Given the description of an element on the screen output the (x, y) to click on. 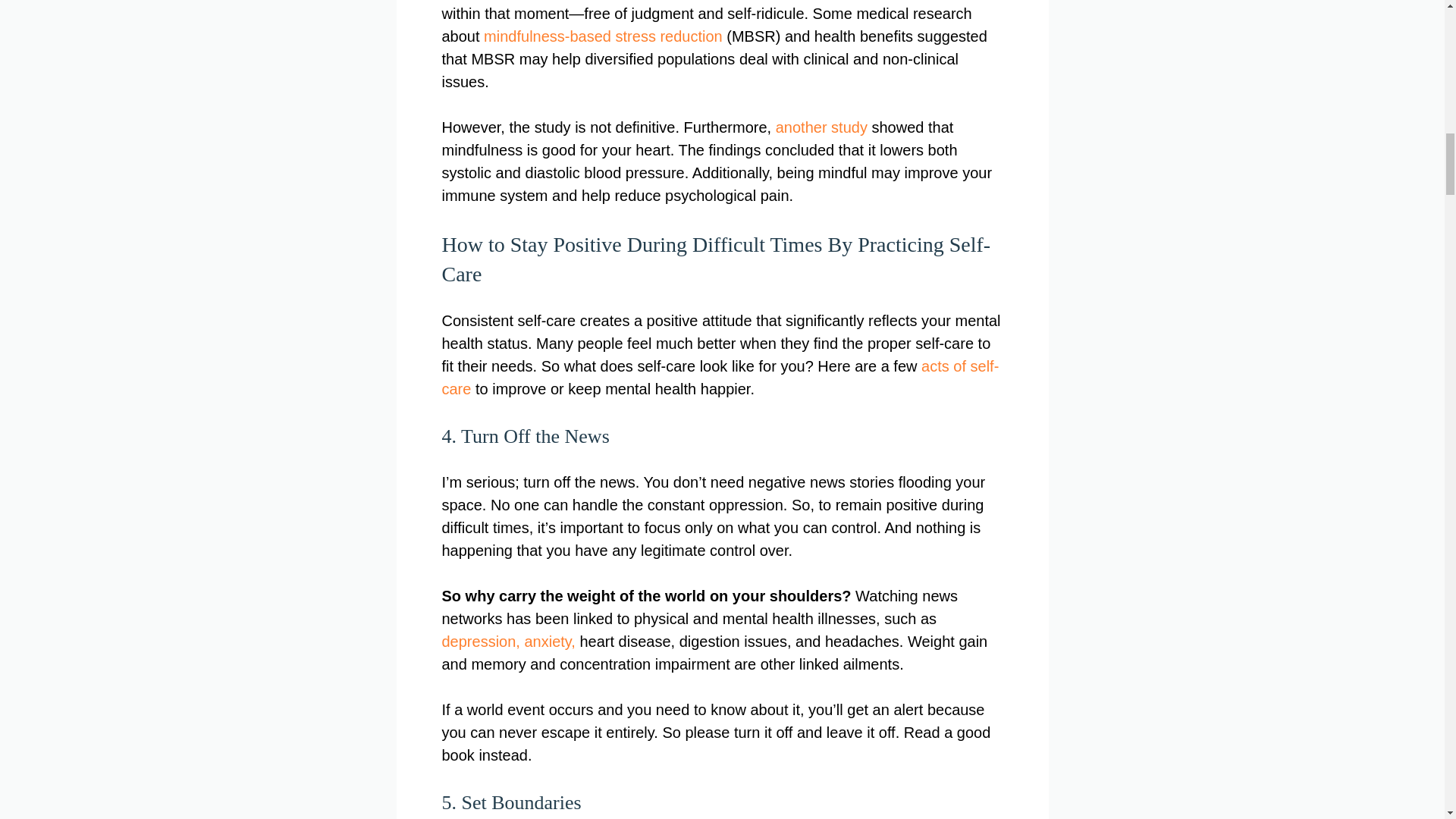
another study (821, 126)
depression, anxiety, (508, 641)
mindfulness-based stress reduction (602, 36)
acts of self-care (719, 377)
